Given the description of an element on the screen output the (x, y) to click on. 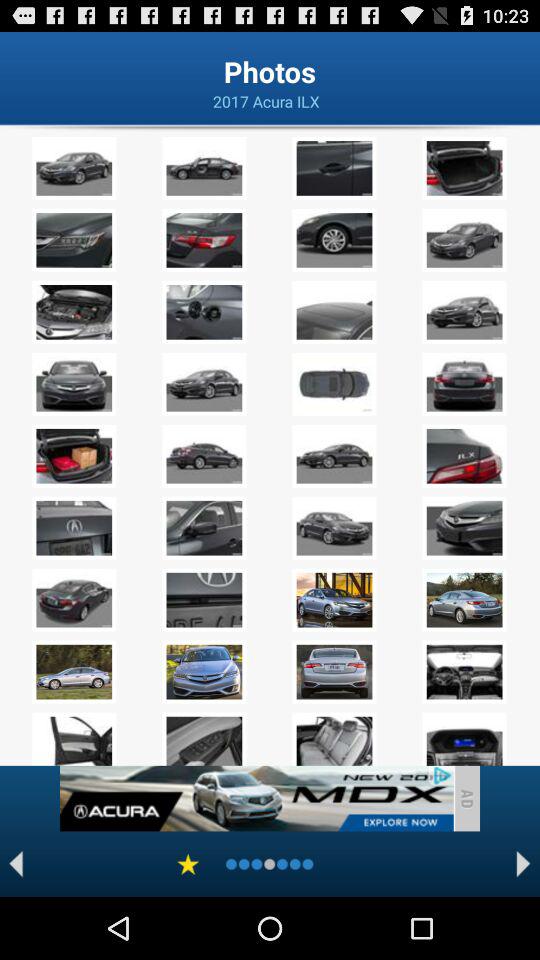
plye putton (16, 864)
